Given the description of an element on the screen output the (x, y) to click on. 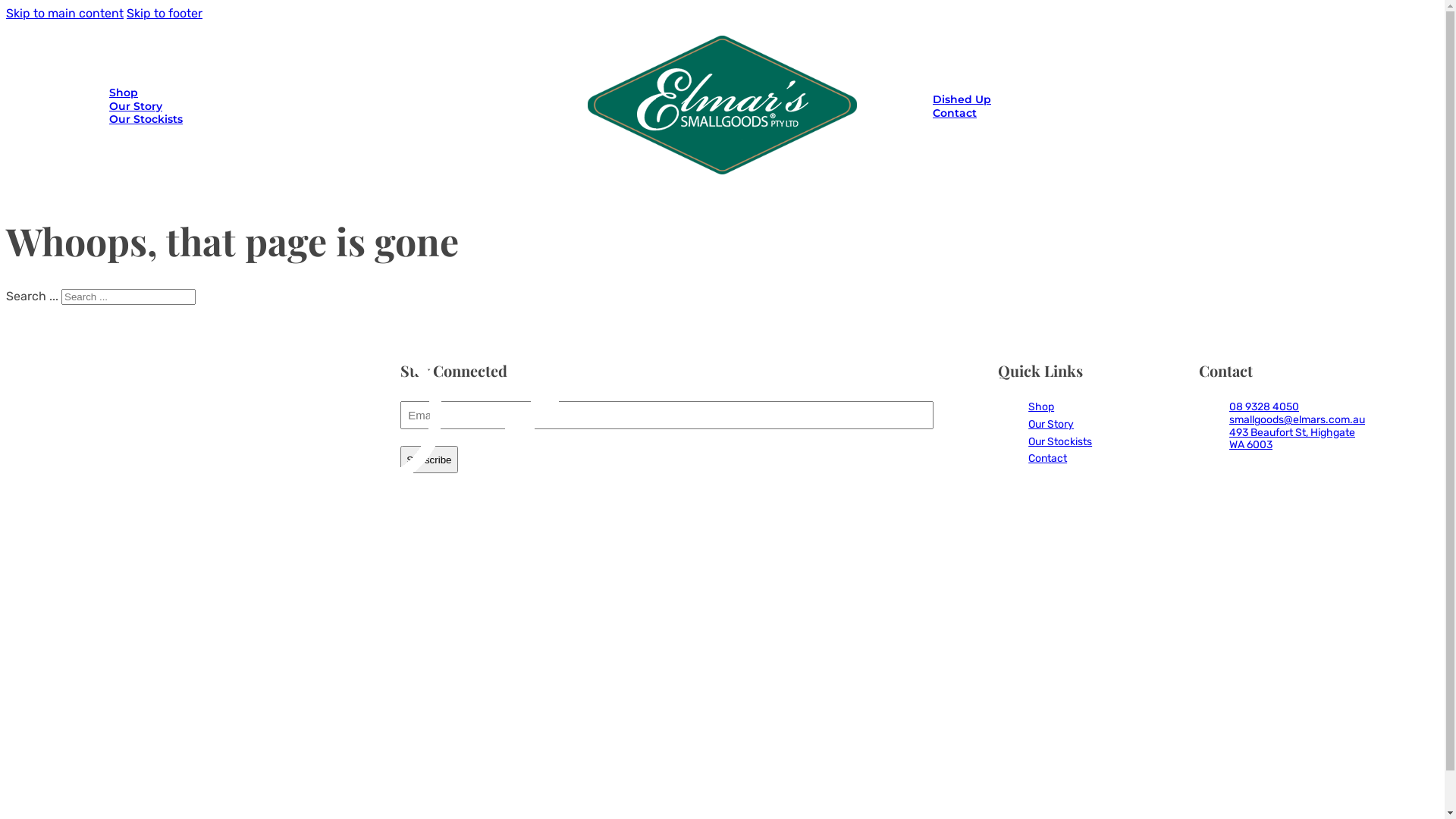
Our Stockists Element type: text (145, 118)
Subscribe Element type: text (428, 459)
Our Story Element type: text (135, 105)
Shop Element type: text (1041, 406)
Contact Element type: text (954, 112)
Dished Up Element type: text (961, 99)
Our Story Element type: text (1050, 423)
Skip to footer Element type: text (164, 13)
smallgoods@elmars.com.au Element type: text (1297, 419)
Shop Element type: text (123, 92)
08 9328 4050 Element type: text (1264, 406)
Contact Element type: text (1047, 457)
Our Stockists Element type: text (1060, 441)
493 Beaufort St, Highgate WA 6003 Element type: text (1292, 438)
Skip to main content Element type: text (64, 13)
